Given the description of an element on the screen output the (x, y) to click on. 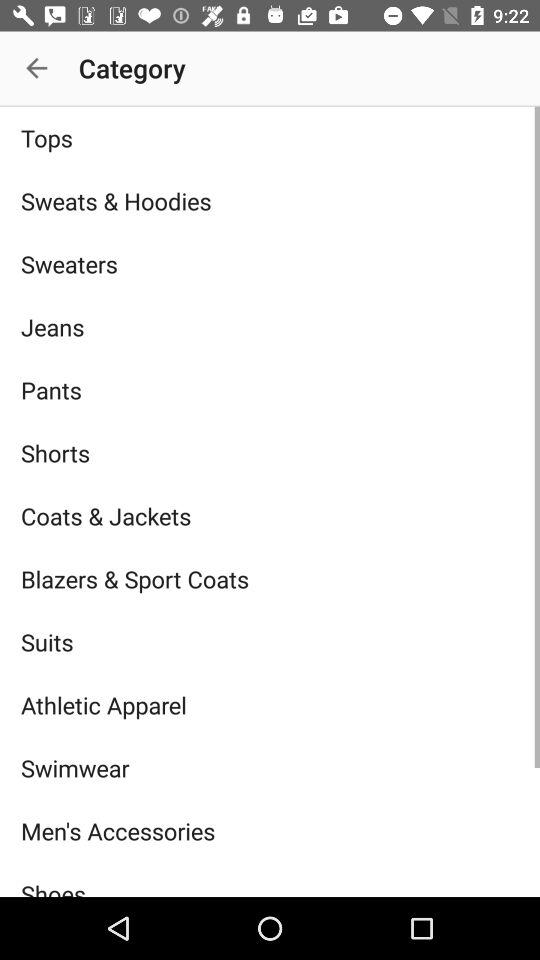
launch item above tops icon (36, 68)
